Given the description of an element on the screen output the (x, y) to click on. 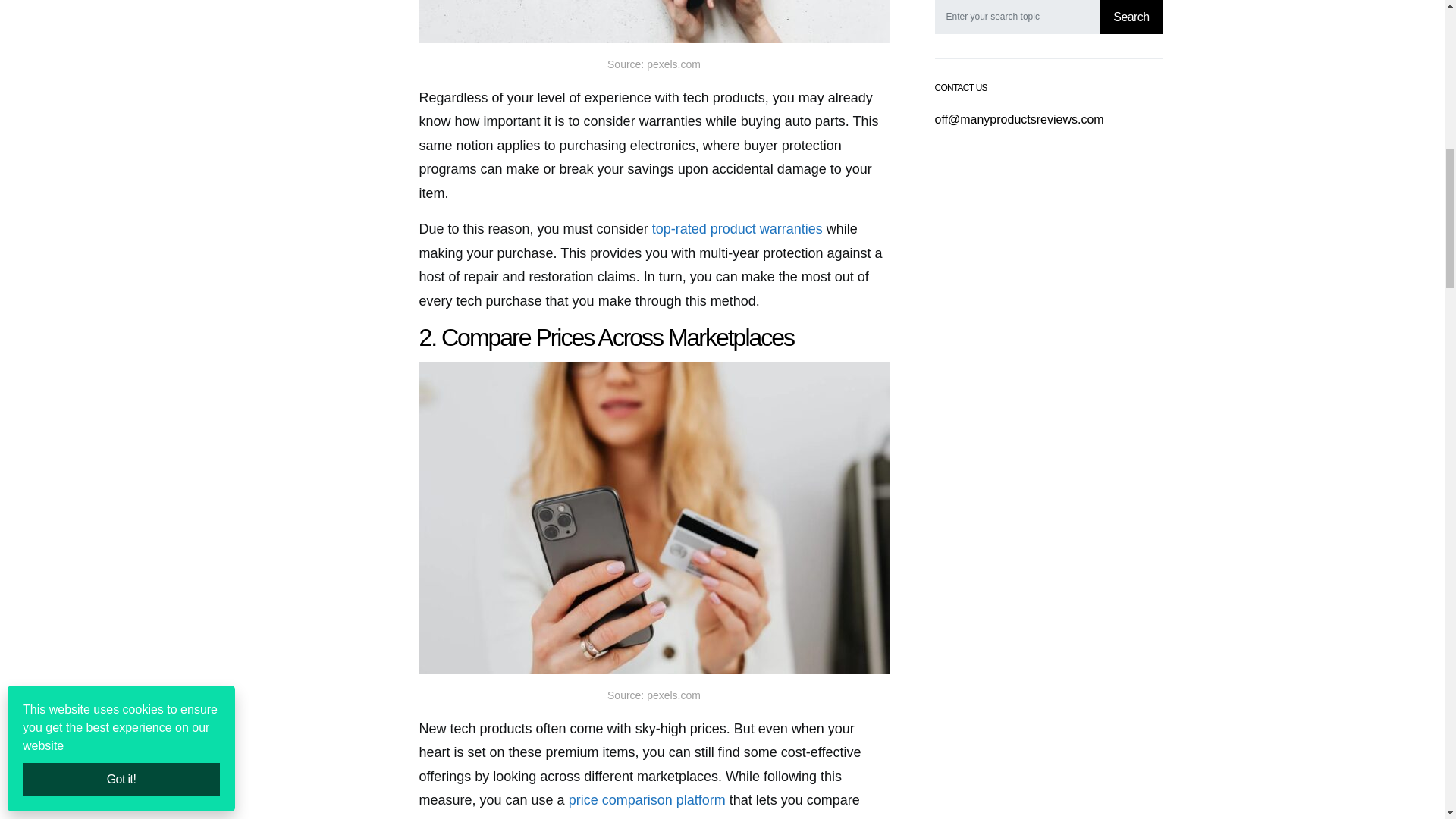
5 Things to Consider When Buying New Tech Products (653, 21)
top-rated product warranties (737, 228)
price comparison platform (647, 799)
